Given the description of an element on the screen output the (x, y) to click on. 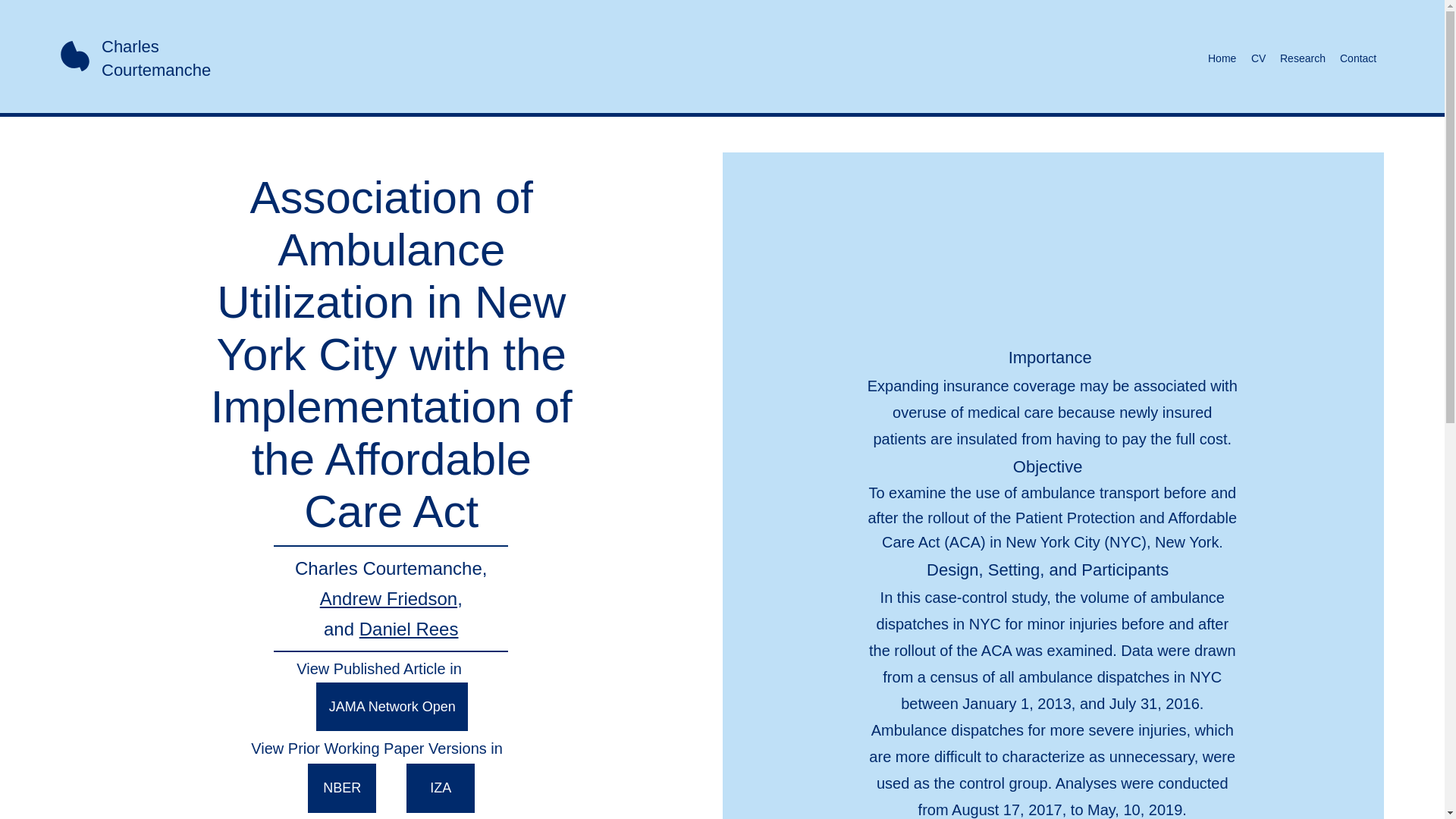
Home (1221, 57)
Charles Courtemanche (156, 57)
JAMA Network Open (391, 706)
CV (1257, 57)
Andrew Friedson (388, 598)
Daniel Rees (408, 629)
Contact (1357, 57)
IZA (440, 788)
Research (1302, 57)
NBER (341, 788)
